Given the description of an element on the screen output the (x, y) to click on. 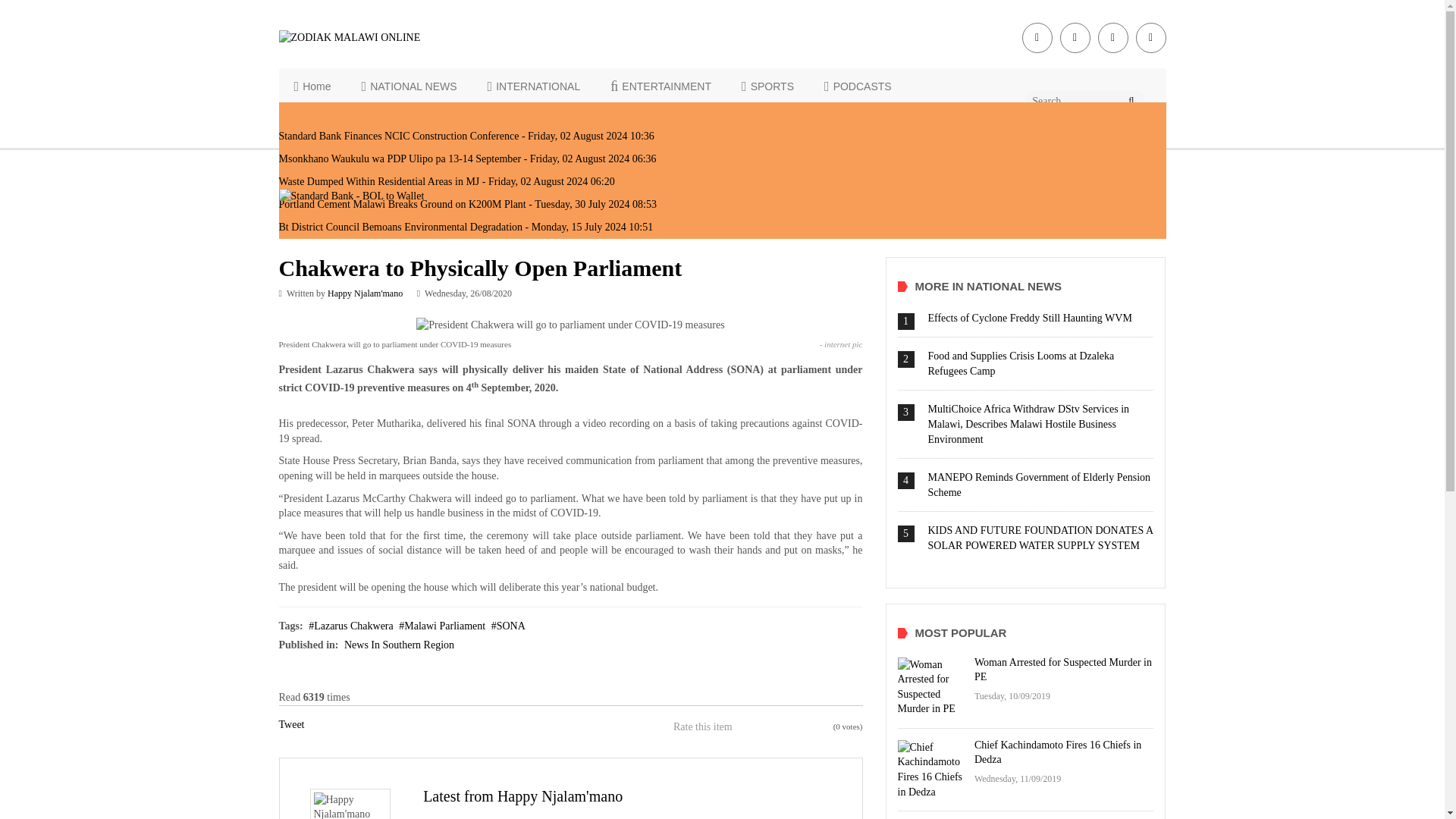
ZODIAK MALAWI ONLINE (381, 37)
SONA (508, 625)
Home (312, 85)
4 (772, 726)
5 stars out of 5 (782, 726)
Continue reading "Woman Arrested for Suspected Murder in PE" (932, 686)
Happy Njalam'mano (365, 293)
ENTERTAINMENT (660, 85)
INTERNATIONAL (533, 85)
Lazarus Chakwera (350, 625)
Go (1130, 100)
